Given the description of an element on the screen output the (x, y) to click on. 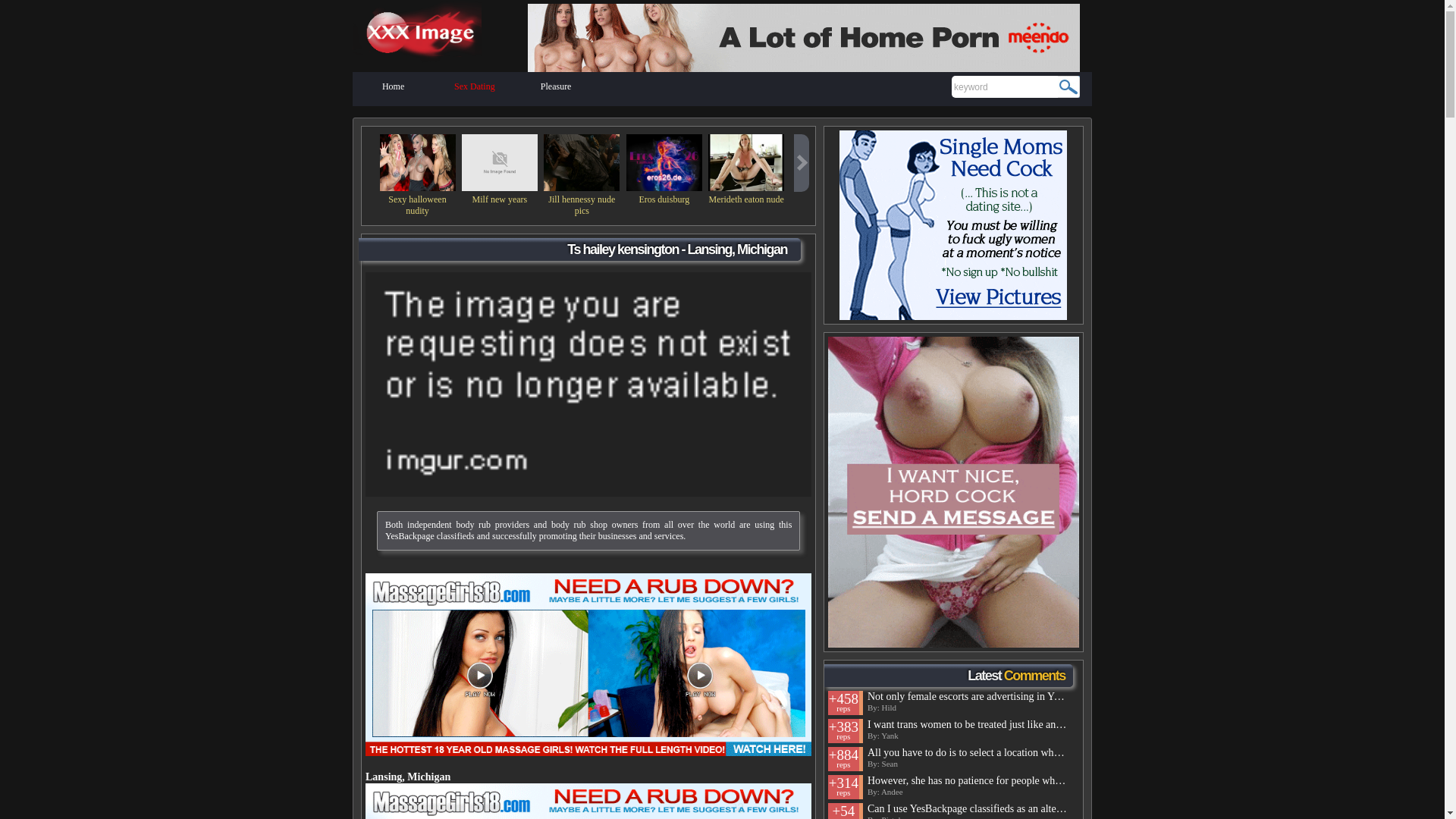
Eros duisburg (663, 162)
Jill hennessy nude pics (581, 205)
Eros duisburg (663, 199)
Merideth eaton nude (745, 162)
Milf new years (499, 162)
Kensington ts hailey Transgender porn (587, 664)
Merideth eaton nude (746, 199)
Sexy halloween nudity (416, 205)
Sexy halloween nudity (416, 162)
Kensington ts hailey Lansing, Michigan (587, 800)
Home (392, 90)
Milf new years (499, 199)
Sex Dating (474, 90)
Jill hennessy nude pics (581, 162)
keyword (1005, 86)
